Given the description of an element on the screen output the (x, y) to click on. 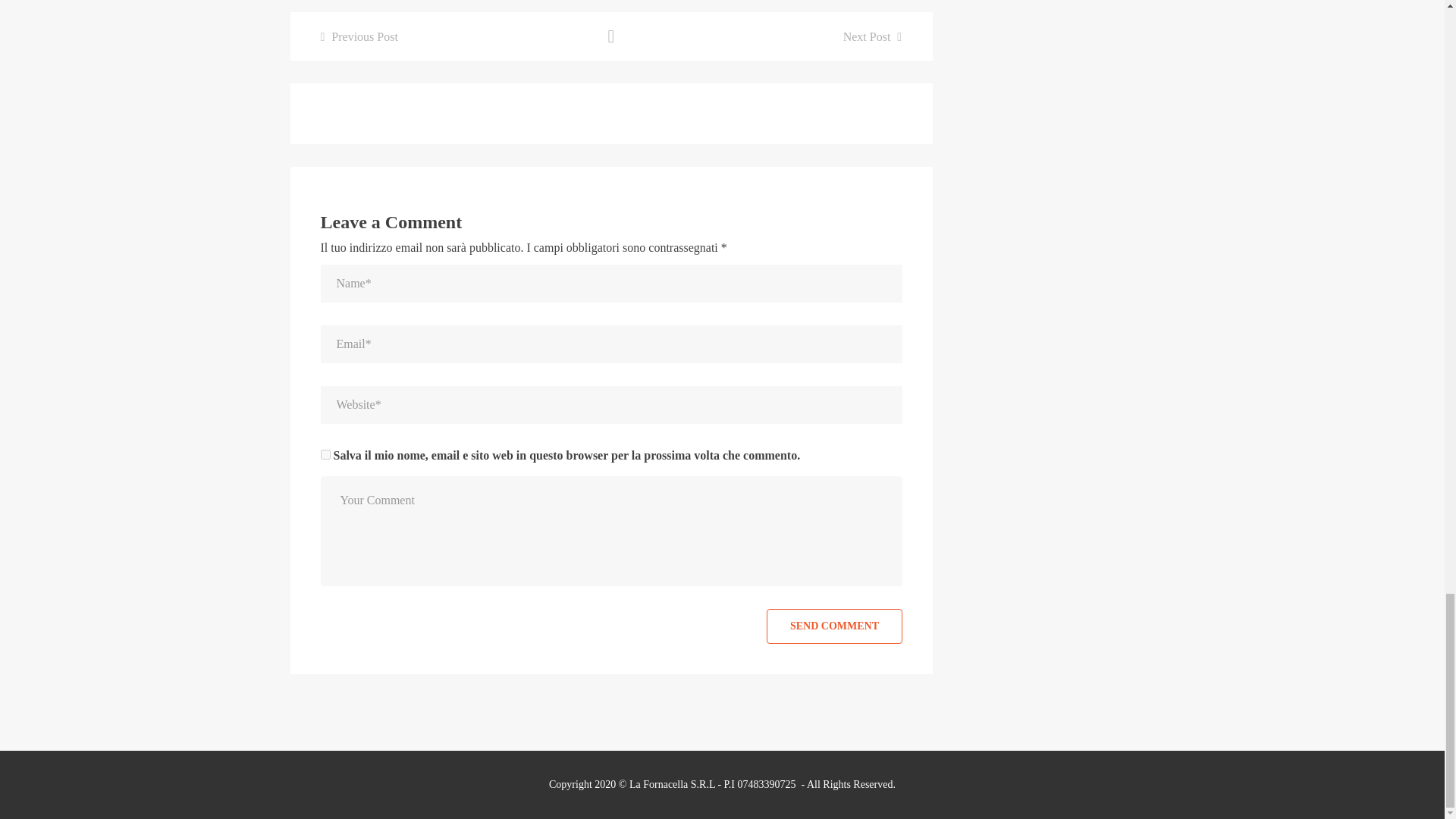
Send Comment (834, 626)
yes (325, 454)
Previous Post (358, 36)
Next Post (872, 36)
Send Comment (834, 626)
